Given the description of an element on the screen output the (x, y) to click on. 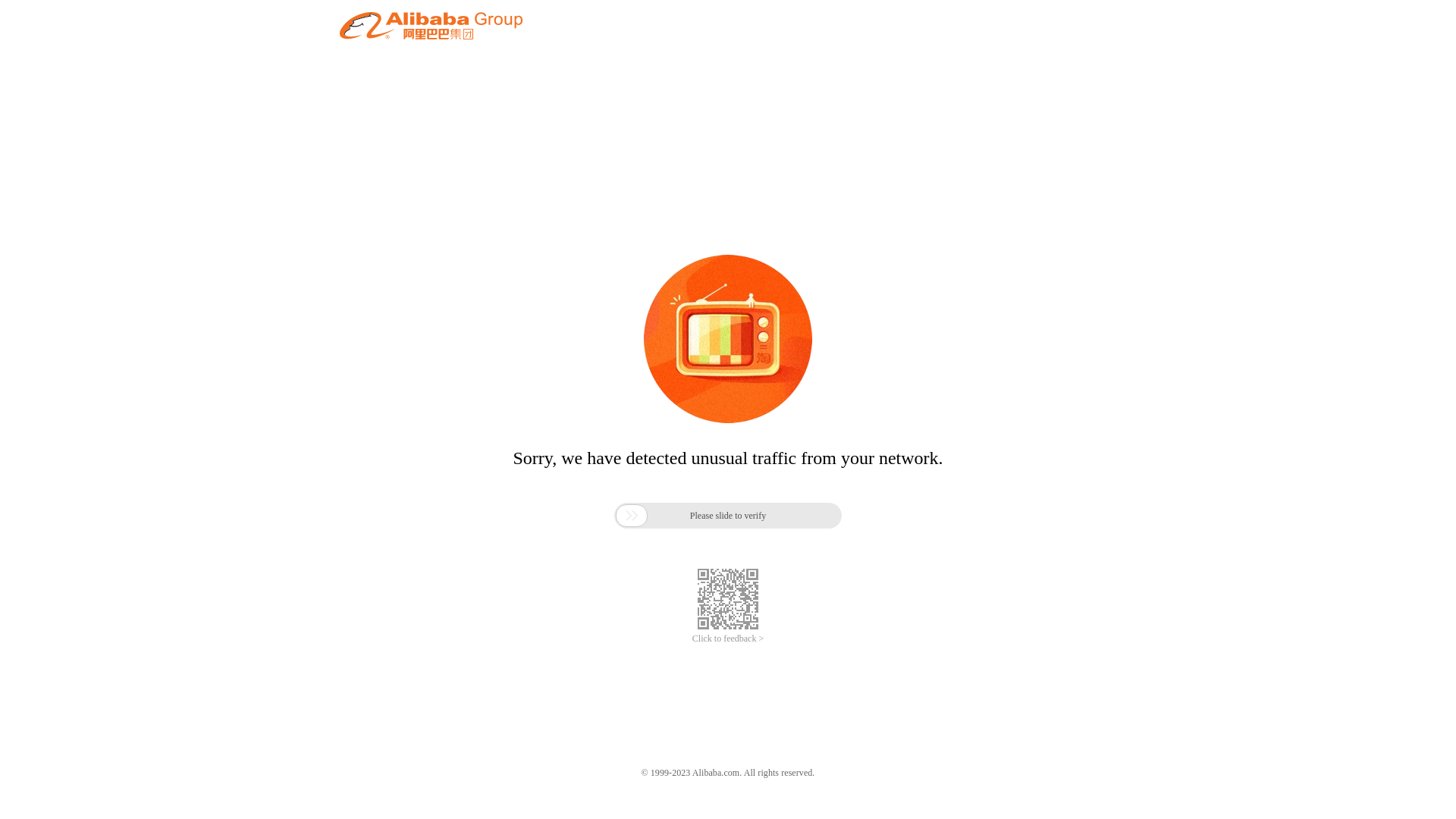
Click to feedback > Element type: text (727, 638)
